Given the description of an element on the screen output the (x, y) to click on. 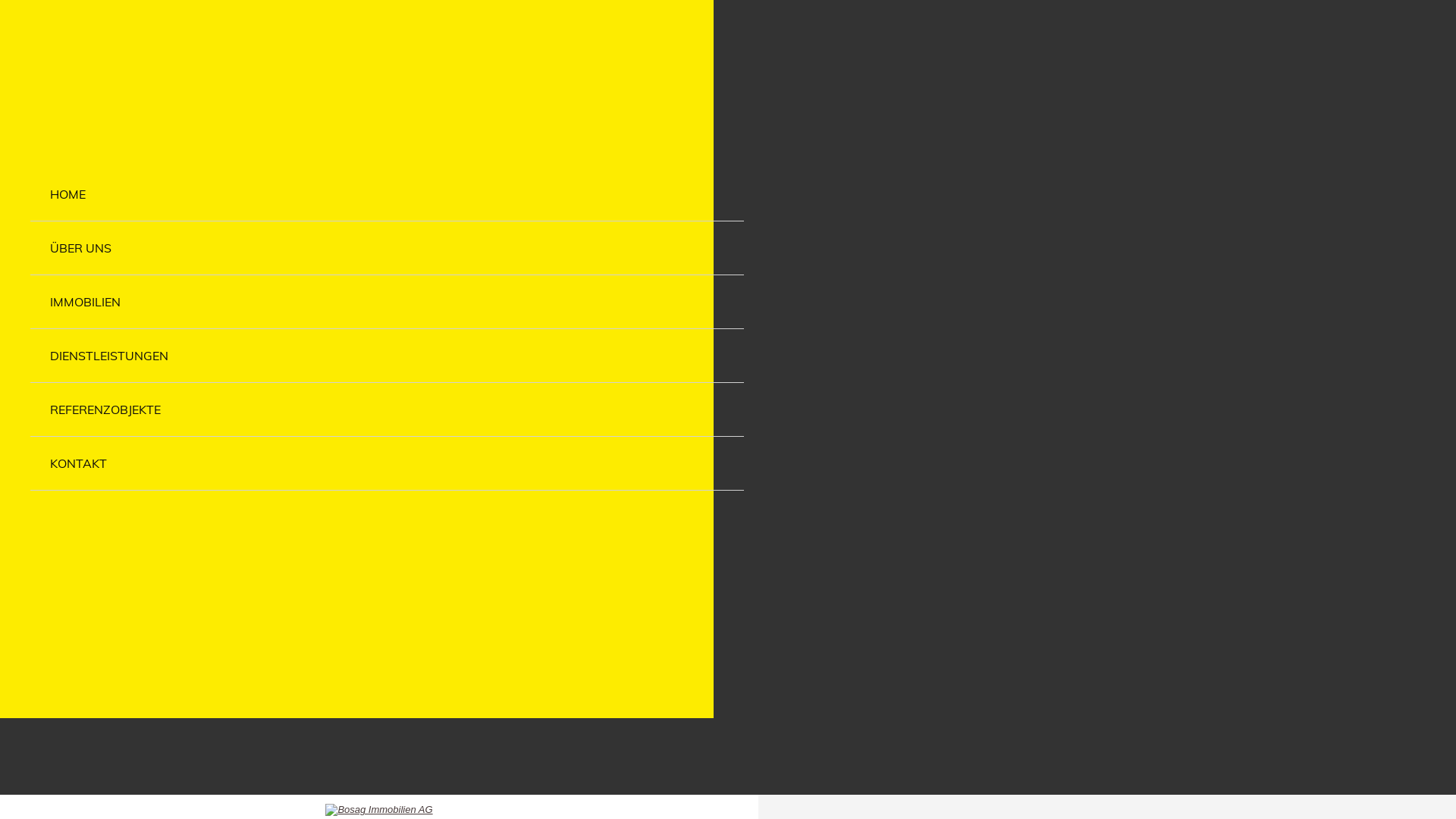
IMMOBILIEN Element type: text (386, 301)
HOME Element type: text (386, 193)
KONTAKT Element type: text (386, 462)
